Given the description of an element on the screen output the (x, y) to click on. 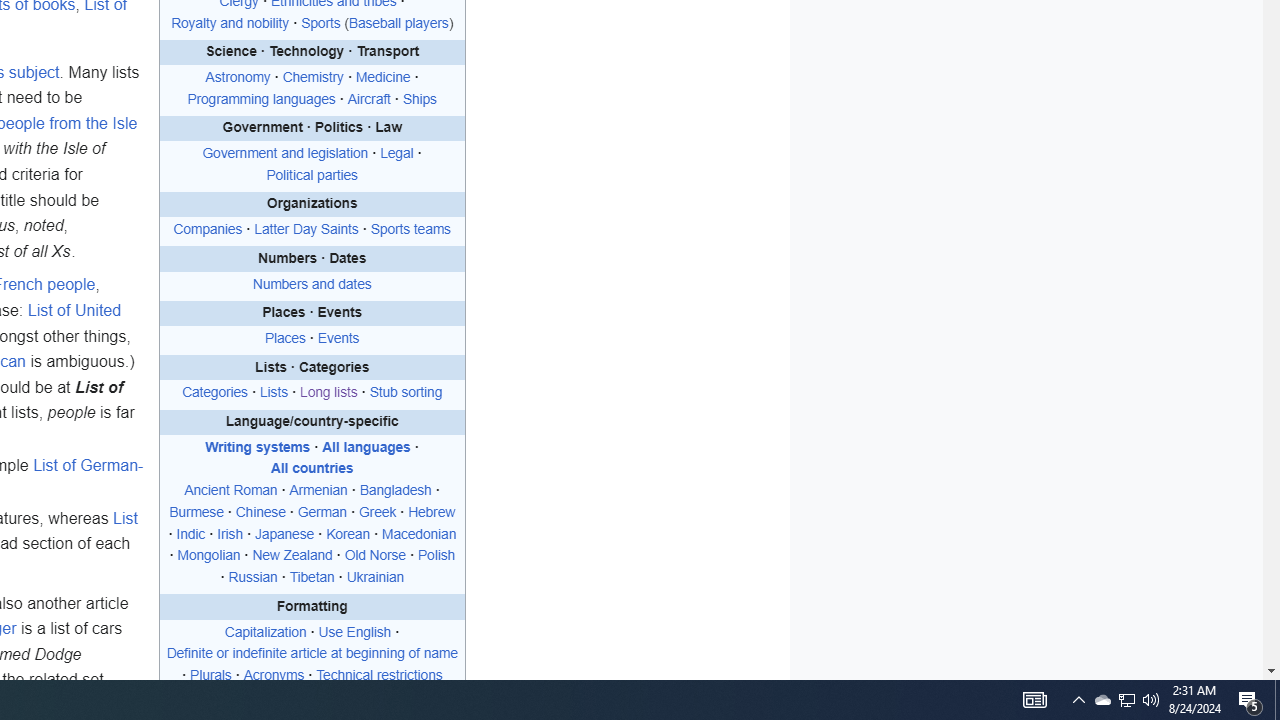
Medicine (382, 77)
Lists (273, 393)
Indic (191, 534)
All languages (366, 447)
Tibetan (312, 578)
Chinese (260, 511)
Legal (396, 154)
Polish (436, 555)
Places (284, 339)
Armenian (318, 490)
Political parties (312, 174)
Burmese (196, 511)
Japanese (284, 534)
Irish (230, 534)
